Given the description of an element on the screen output the (x, y) to click on. 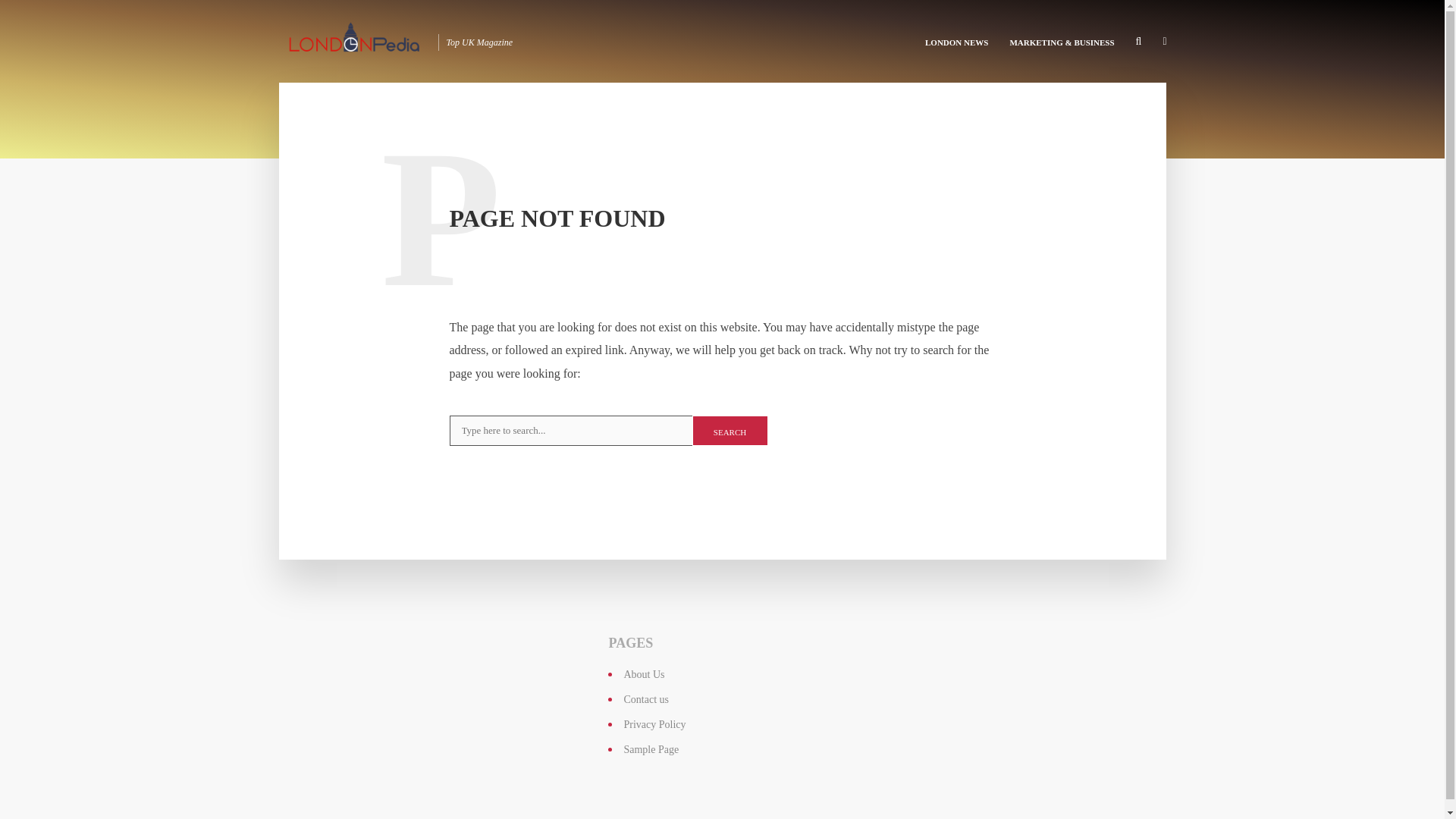
Contact us (645, 699)
Privacy Policy (654, 724)
About Us (643, 674)
Sample Page (650, 749)
SEARCH (729, 430)
LONDON NEWS (956, 41)
